Given the description of an element on the screen output the (x, y) to click on. 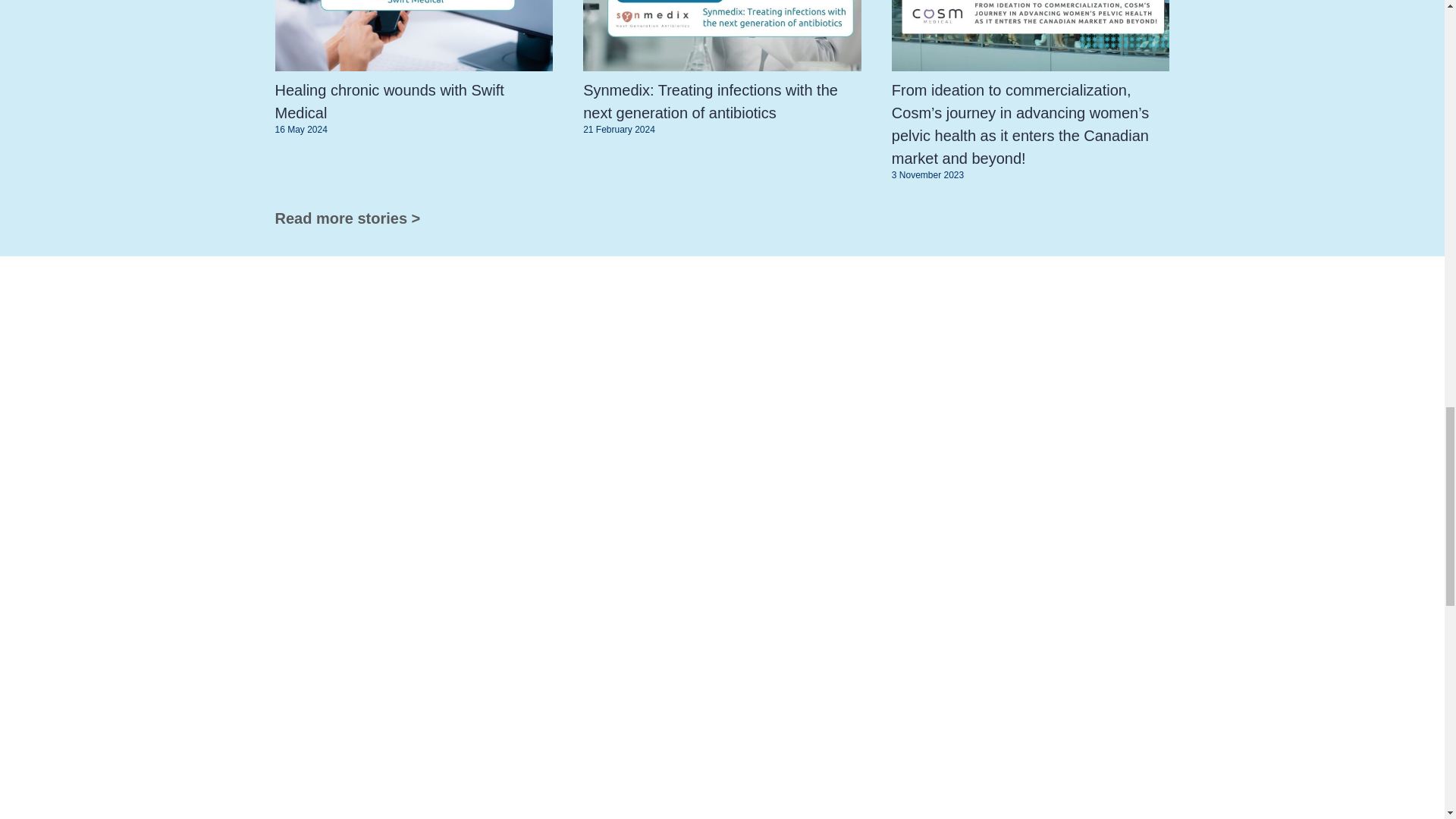
Healing chronic wounds with Swift Medical (389, 101)
